Given the description of an element on the screen output the (x, y) to click on. 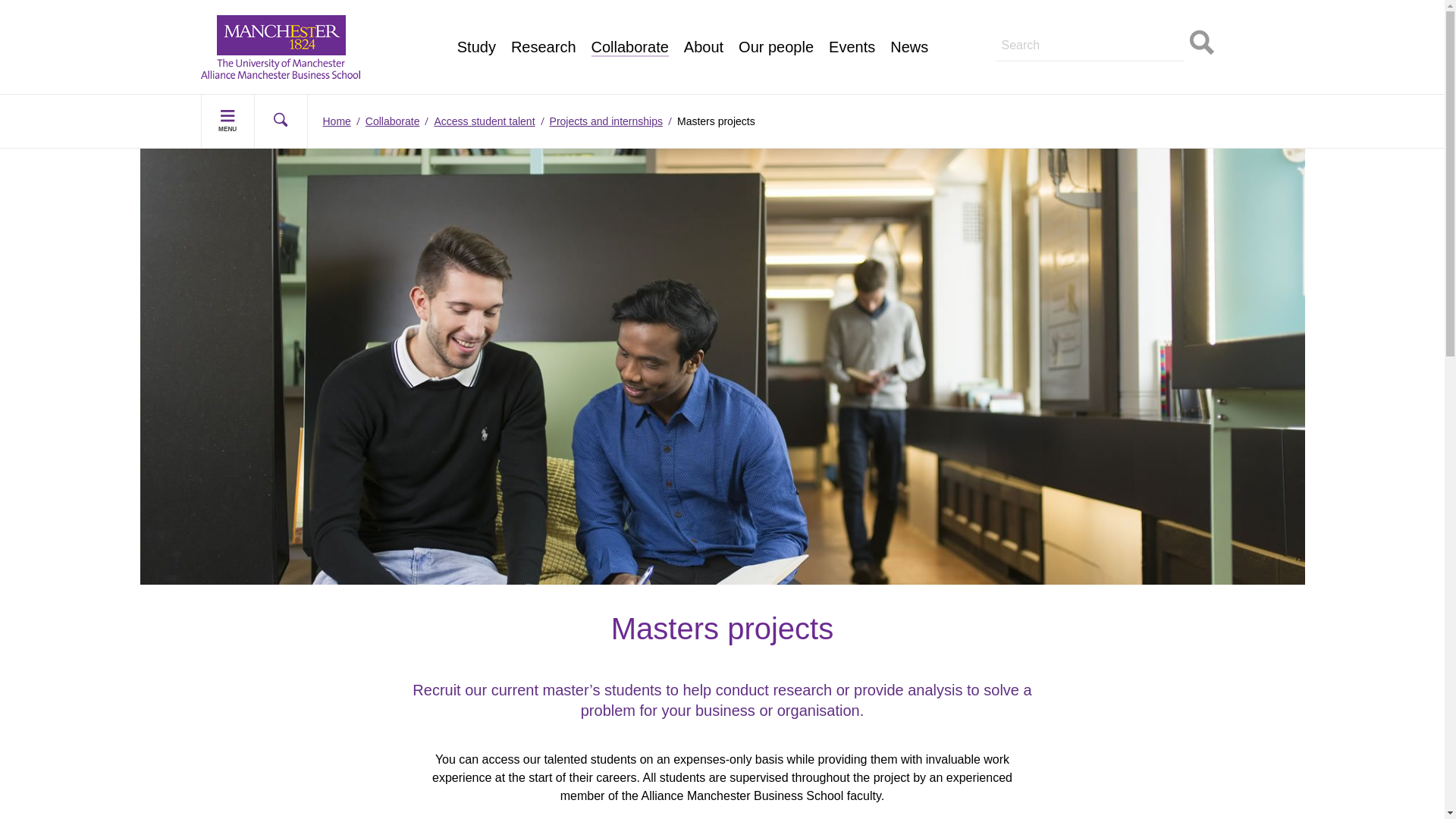
Part-time MSc Financial Management (317, 17)
Global Part-time MBA (274, 35)
Study (476, 46)
Global Executive MBA (536, 17)
Global Executive MBA (275, 53)
MBA Rankings (516, 35)
Global Part-time MBA (535, 2)
